Given the description of an element on the screen output the (x, y) to click on. 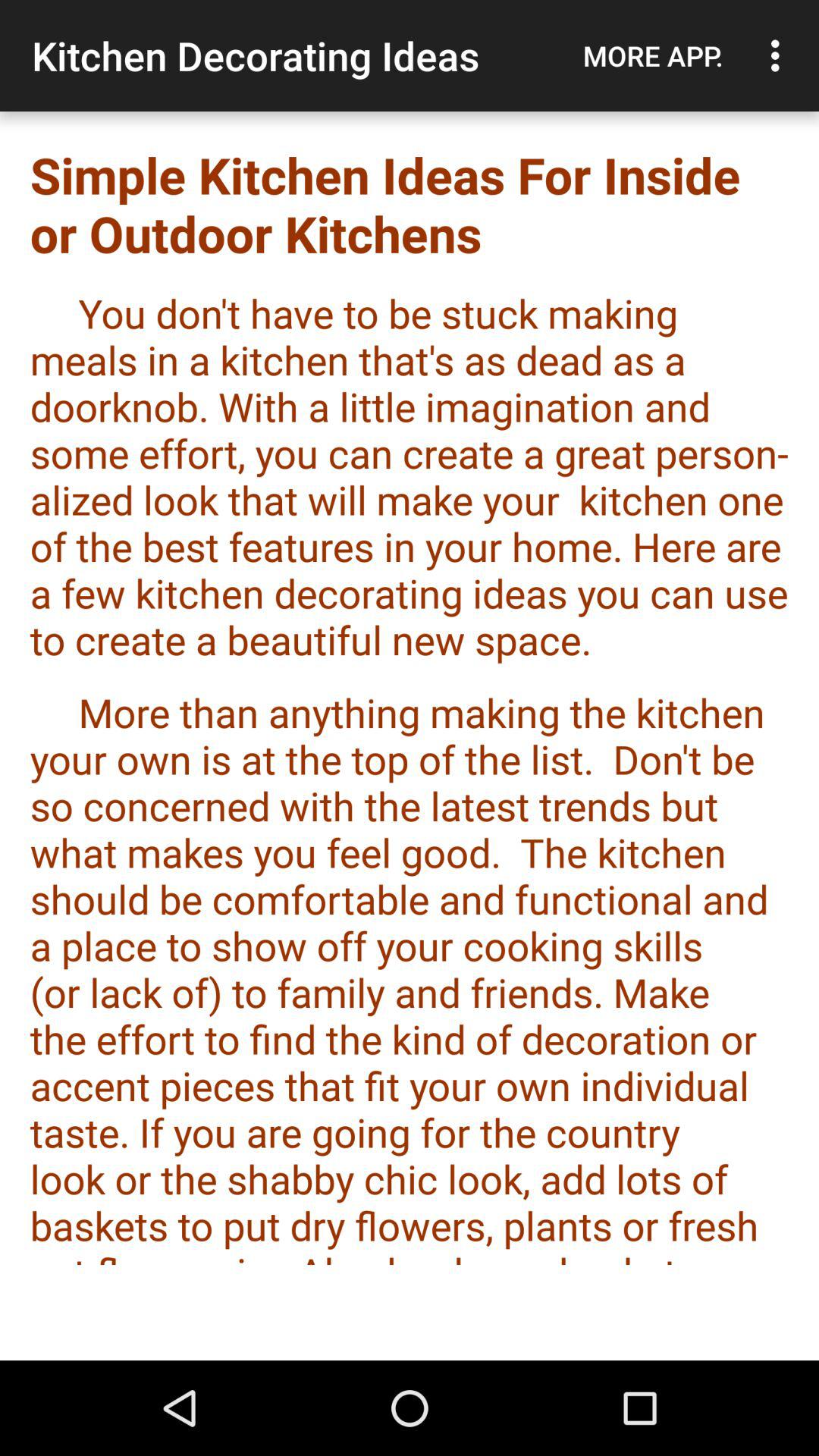
turn on the icon to the right of the kitchen decorating ideas item (653, 55)
